Given the description of an element on the screen output the (x, y) to click on. 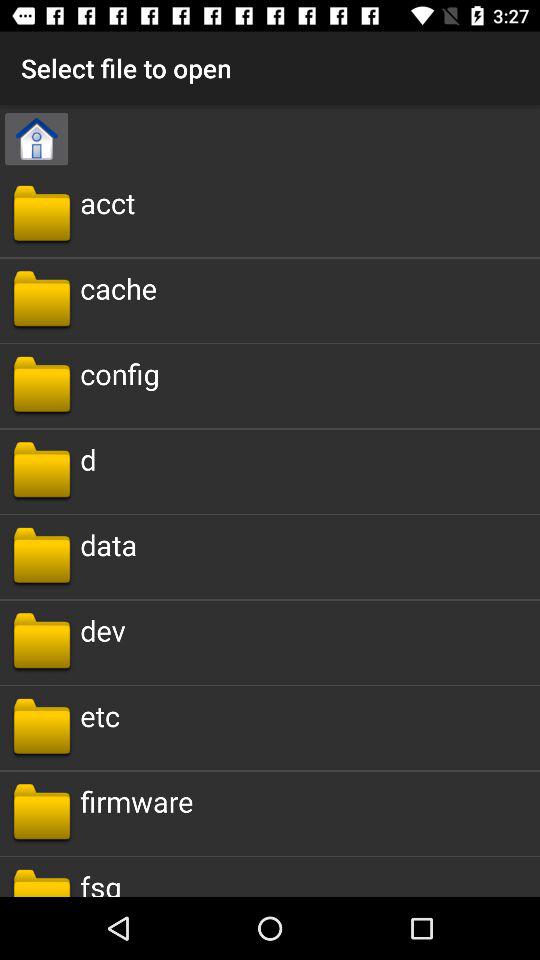
scroll until the dev app (102, 629)
